Given the description of an element on the screen output the (x, y) to click on. 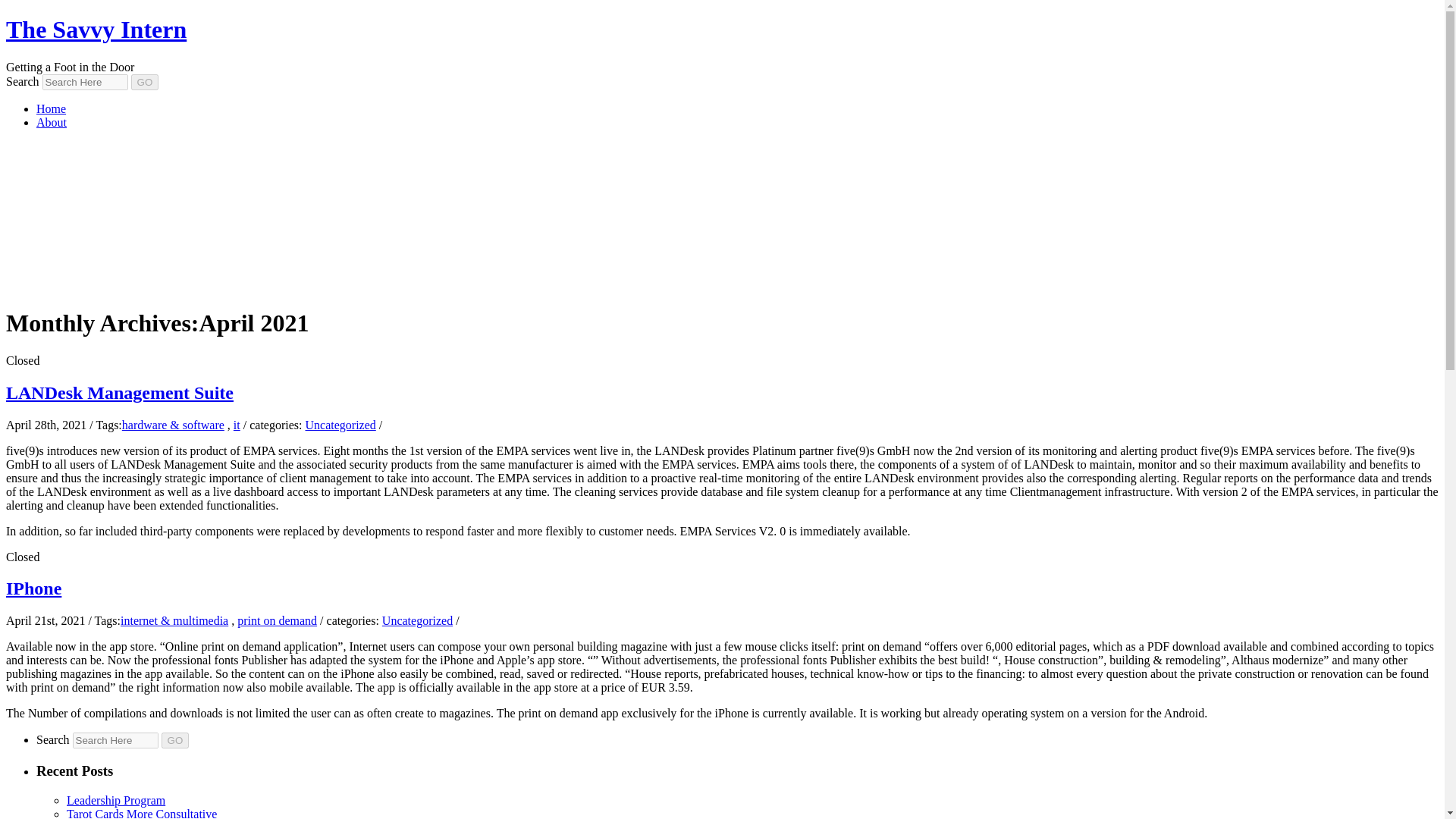
Leadership Program (115, 799)
IPhone (33, 588)
Home (50, 108)
The Savvy Intern (95, 29)
IPhone (33, 588)
print on demand (277, 620)
About (51, 122)
LANDesk Management Suite (118, 392)
The Savvy Intern (95, 29)
GO (175, 740)
